Given the description of an element on the screen output the (x, y) to click on. 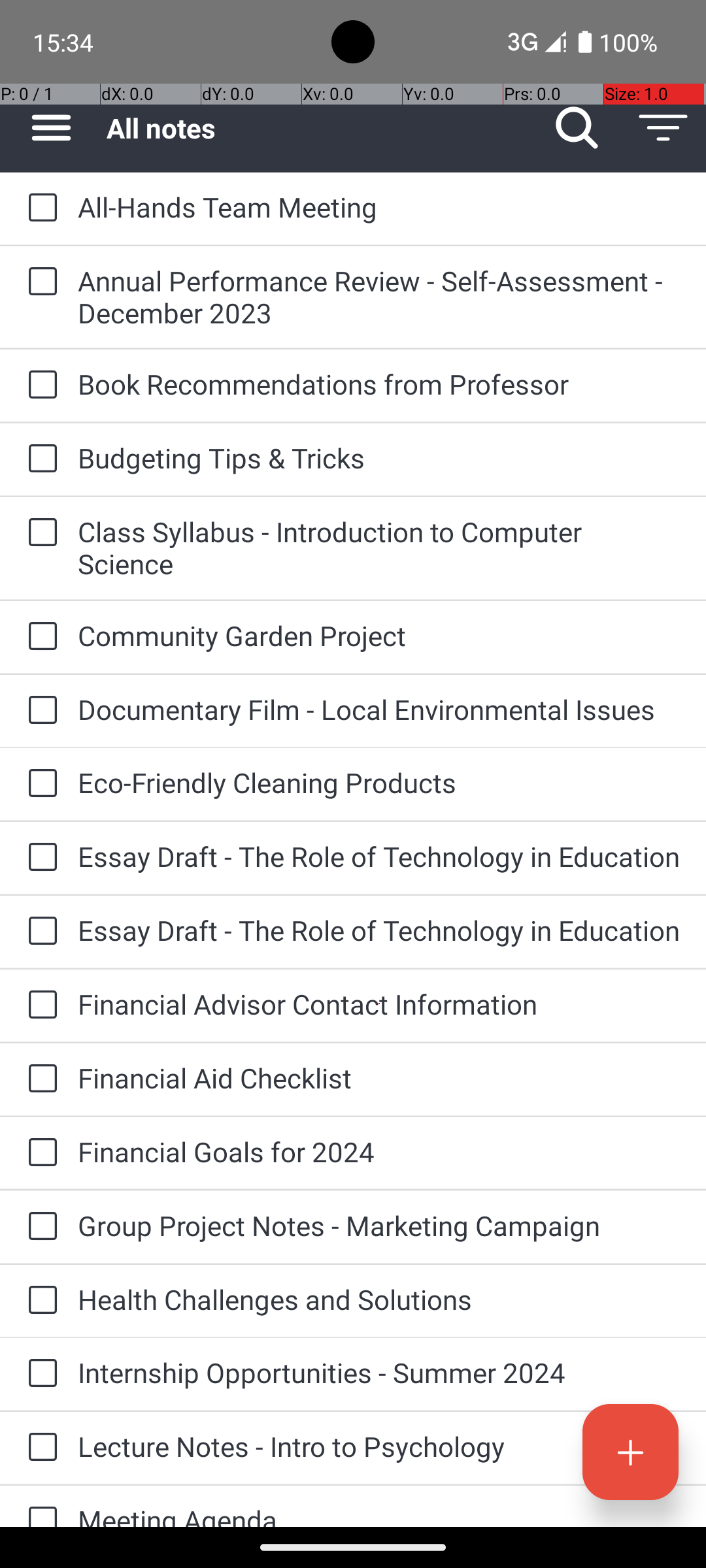
Sidebar Element type: android.widget.Button (44, 127)
All notes Element type: android.widget.TextView (320, 127)
Sort notes by Element type: android.widget.Button (663, 127)
Add new, collapsed Element type: android.widget.Button (630, 1452)
 Element type: android.widget.TextView (51, 127)
 Element type: android.widget.TextView (576, 127)
 Element type: android.widget.TextView (663, 127)
 Element type: android.widget.TextView (630, 1451)
to-do: All-Hands Team Meeting Element type: android.widget.CheckBox (38, 208)
All-Hands Team Meeting Element type: android.widget.TextView (378, 206)
to-do: Annual Performance Review - Self-Assessment - December 2023 Element type: android.widget.CheckBox (38, 282)
Annual Performance Review - Self-Assessment - December 2023 Element type: android.widget.TextView (378, 296)
to-do: Book Recommendations from Professor Element type: android.widget.CheckBox (38, 385)
Book Recommendations from Professor Element type: android.widget.TextView (378, 383)
to-do: Budgeting Tips & Tricks Element type: android.widget.CheckBox (38, 459)
Budgeting Tips & Tricks Element type: android.widget.TextView (378, 457)
to-do: Class Syllabus - Introduction to Computer Science Element type: android.widget.CheckBox (38, 533)
Class Syllabus - Introduction to Computer Science Element type: android.widget.TextView (378, 547)
to-do: Community Garden Project Element type: android.widget.CheckBox (38, 636)
Community Garden Project Element type: android.widget.TextView (378, 634)
to-do: Documentary Film - Local Environmental Issues Element type: android.widget.CheckBox (38, 710)
Documentary Film - Local Environmental Issues Element type: android.widget.TextView (378, 708)
to-do: Eco-Friendly Cleaning Products Element type: android.widget.CheckBox (38, 783)
Eco-Friendly Cleaning Products Element type: android.widget.TextView (378, 781)
to-do: Essay Draft - The Role of Technology in Education Element type: android.widget.CheckBox (38, 857)
Essay Draft - The Role of Technology in Education Element type: android.widget.TextView (378, 855)
to-do: Financial Advisor Contact Information Element type: android.widget.CheckBox (38, 1005)
Financial Advisor Contact Information Element type: android.widget.TextView (378, 1003)
to-do: Financial Aid Checklist Element type: android.widget.CheckBox (38, 1079)
Financial Aid Checklist Element type: android.widget.TextView (378, 1077)
to-do: Financial Goals for 2024 Element type: android.widget.CheckBox (38, 1153)
Financial Goals for 2024 Element type: android.widget.TextView (378, 1151)
to-do: Group Project Notes - Marketing Campaign Element type: android.widget.CheckBox (38, 1227)
Group Project Notes - Marketing Campaign Element type: android.widget.TextView (378, 1224)
to-do: Health Challenges and Solutions Element type: android.widget.CheckBox (38, 1300)
Health Challenges and Solutions Element type: android.widget.TextView (378, 1298)
to-do: Internship Opportunities - Summer 2024 Element type: android.widget.CheckBox (38, 1373)
Internship Opportunities - Summer 2024 Element type: android.widget.TextView (378, 1371)
to-do: Lecture Notes - Intro to Psychology Element type: android.widget.CheckBox (38, 1447)
Lecture Notes - Intro to Psychology Element type: android.widget.TextView (378, 1445)
to-do: Meeting Agenda Element type: android.widget.CheckBox (38, 1505)
Meeting Agenda Element type: android.widget.TextView (378, 1513)
 Element type: android.widget.TextView (42, 208)
